Given the description of an element on the screen output the (x, y) to click on. 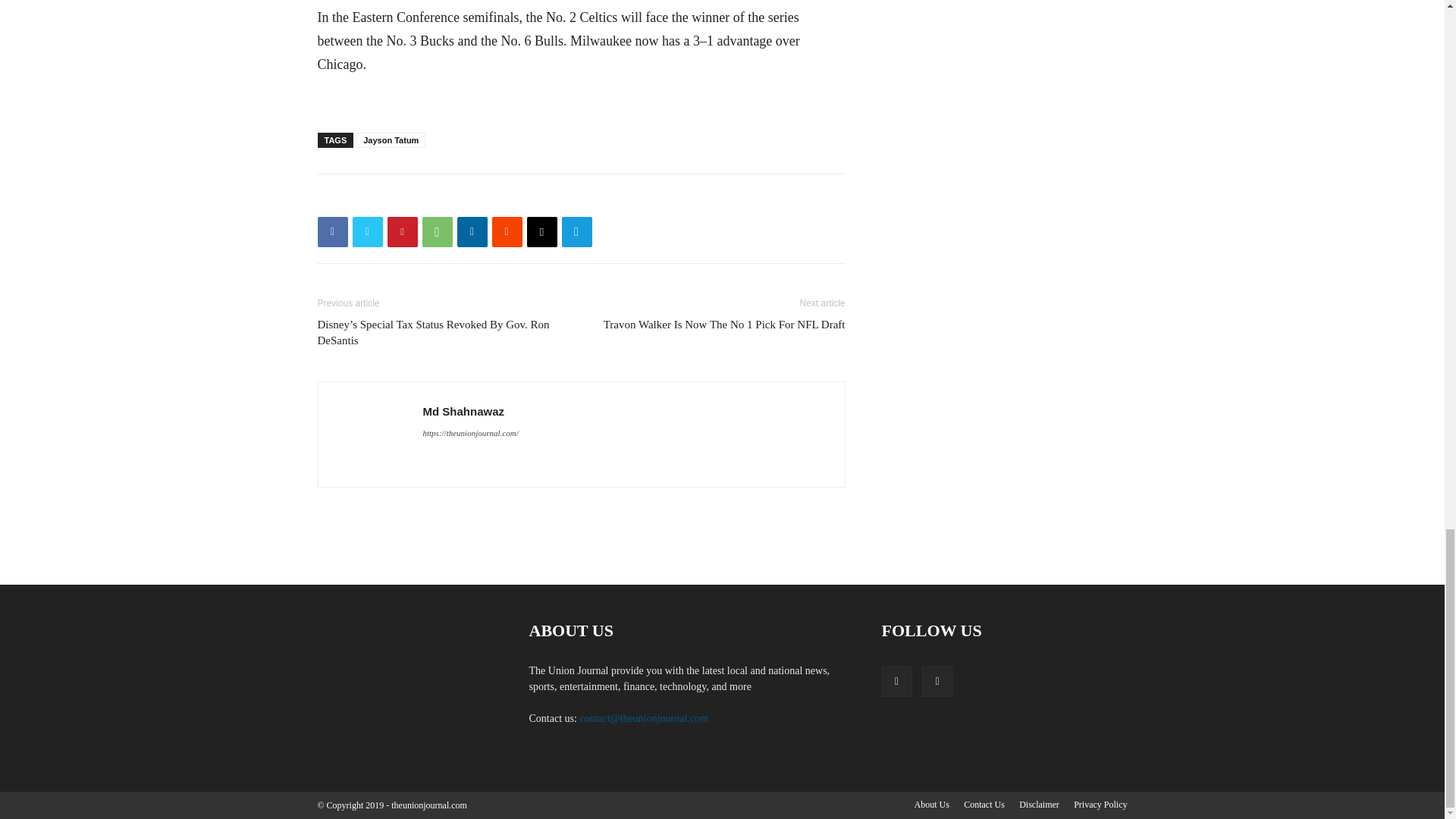
Facebook (332, 232)
bottomFacebookLike (430, 198)
Pinterest (401, 232)
Twitter (366, 232)
WhatsApp (436, 232)
